Given the description of an element on the screen output the (x, y) to click on. 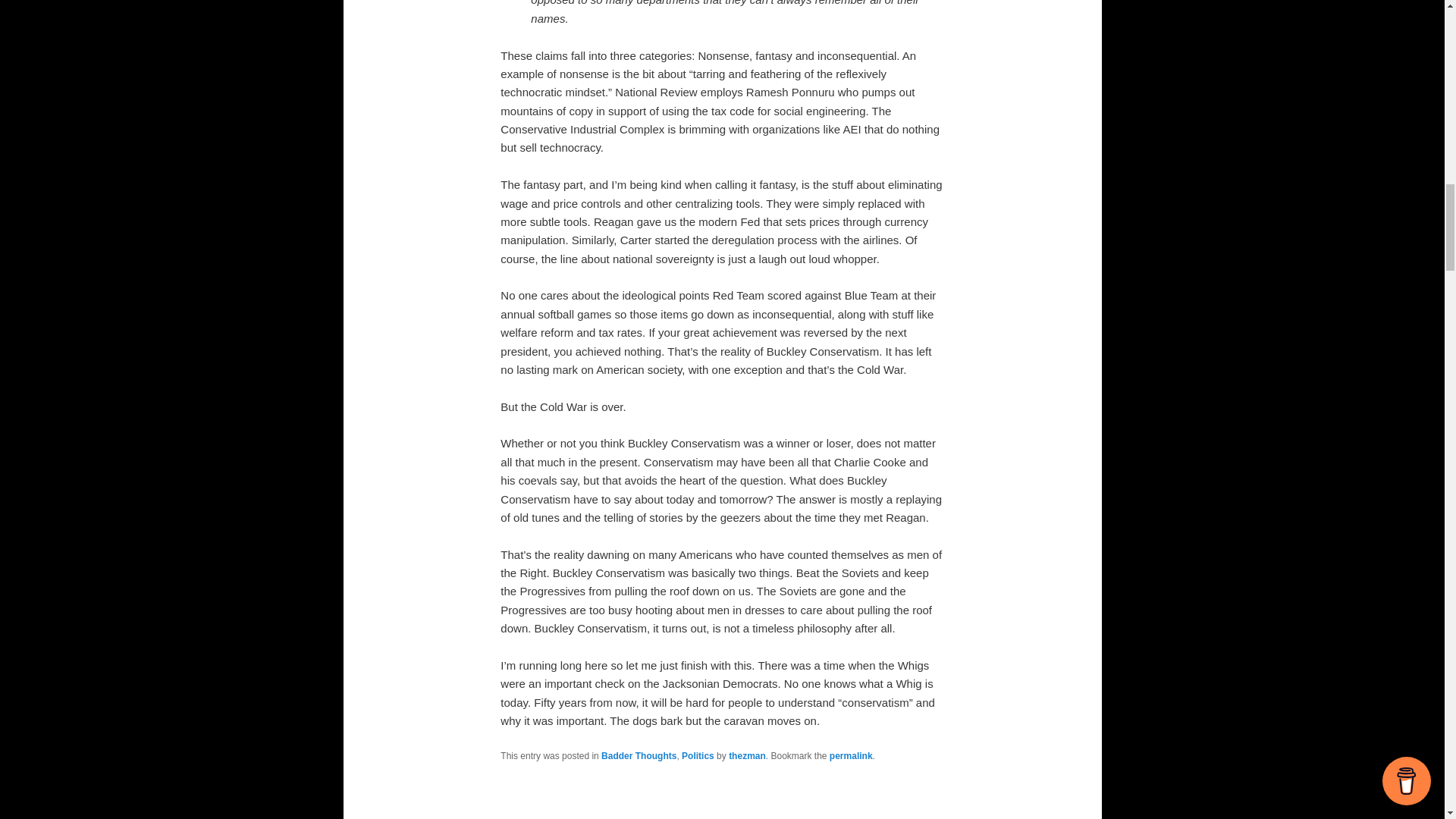
thezman (747, 756)
permalink (850, 756)
Permalink to Buckley Conservatism (850, 756)
Politics (697, 756)
Badder Thoughts (639, 756)
